Given the description of an element on the screen output the (x, y) to click on. 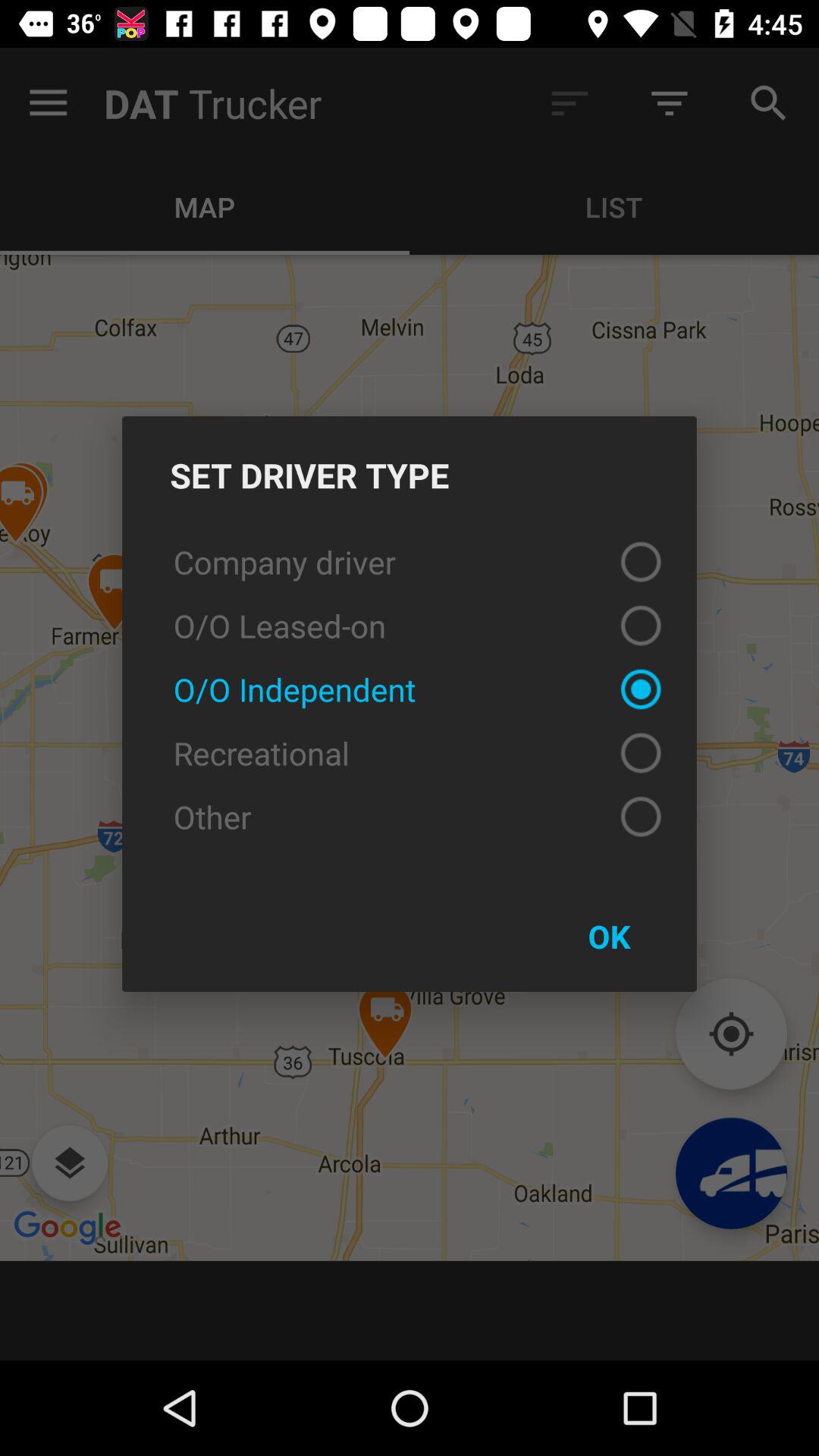
choose icon above other (409, 752)
